Given the description of an element on the screen output the (x, y) to click on. 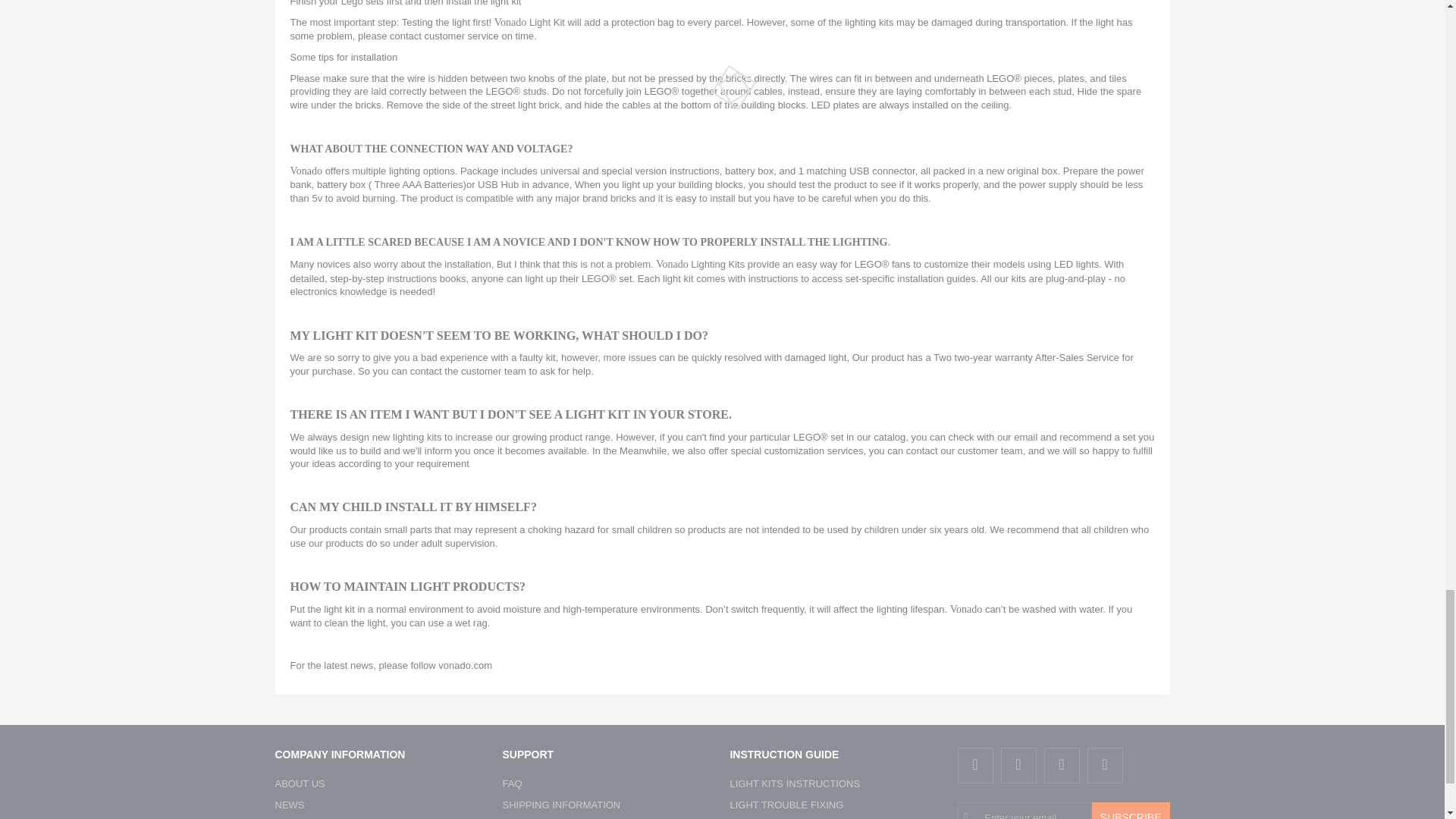
Subscribe (1131, 810)
